Given the description of an element on the screen output the (x, y) to click on. 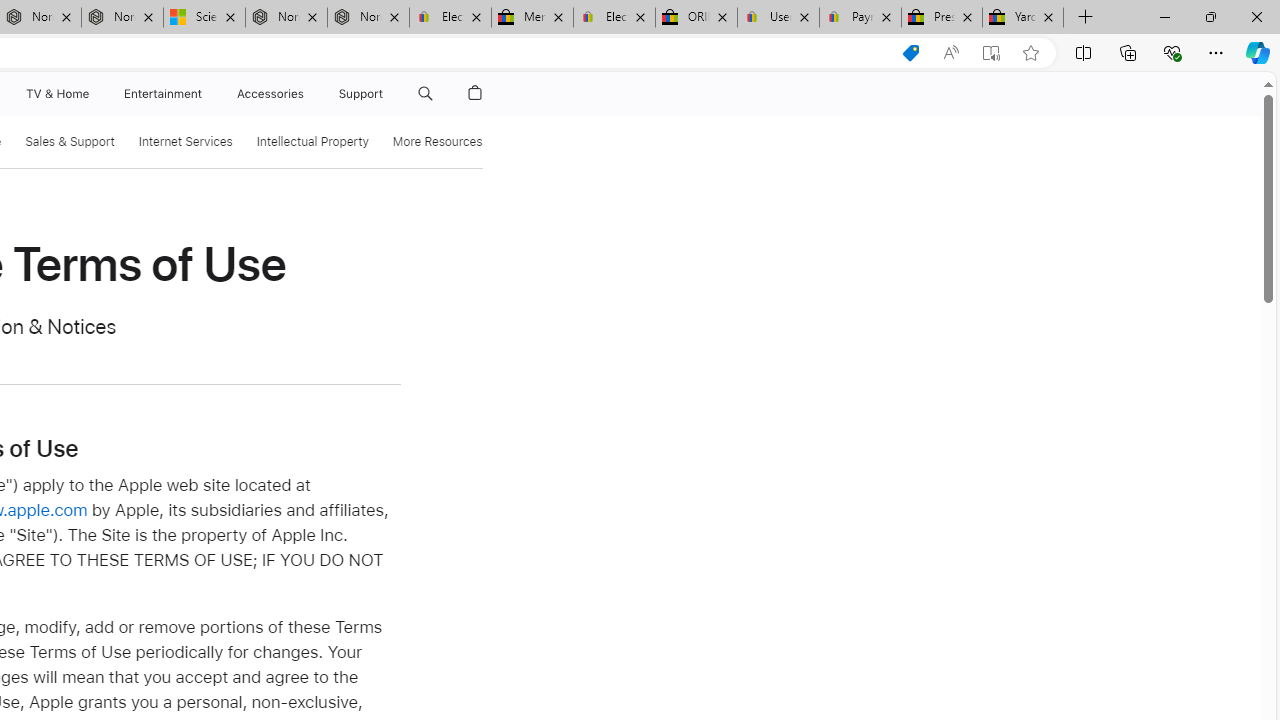
More Resources (436, 141)
Internet Services (185, 141)
Support (361, 93)
